Given the description of an element on the screen output the (x, y) to click on. 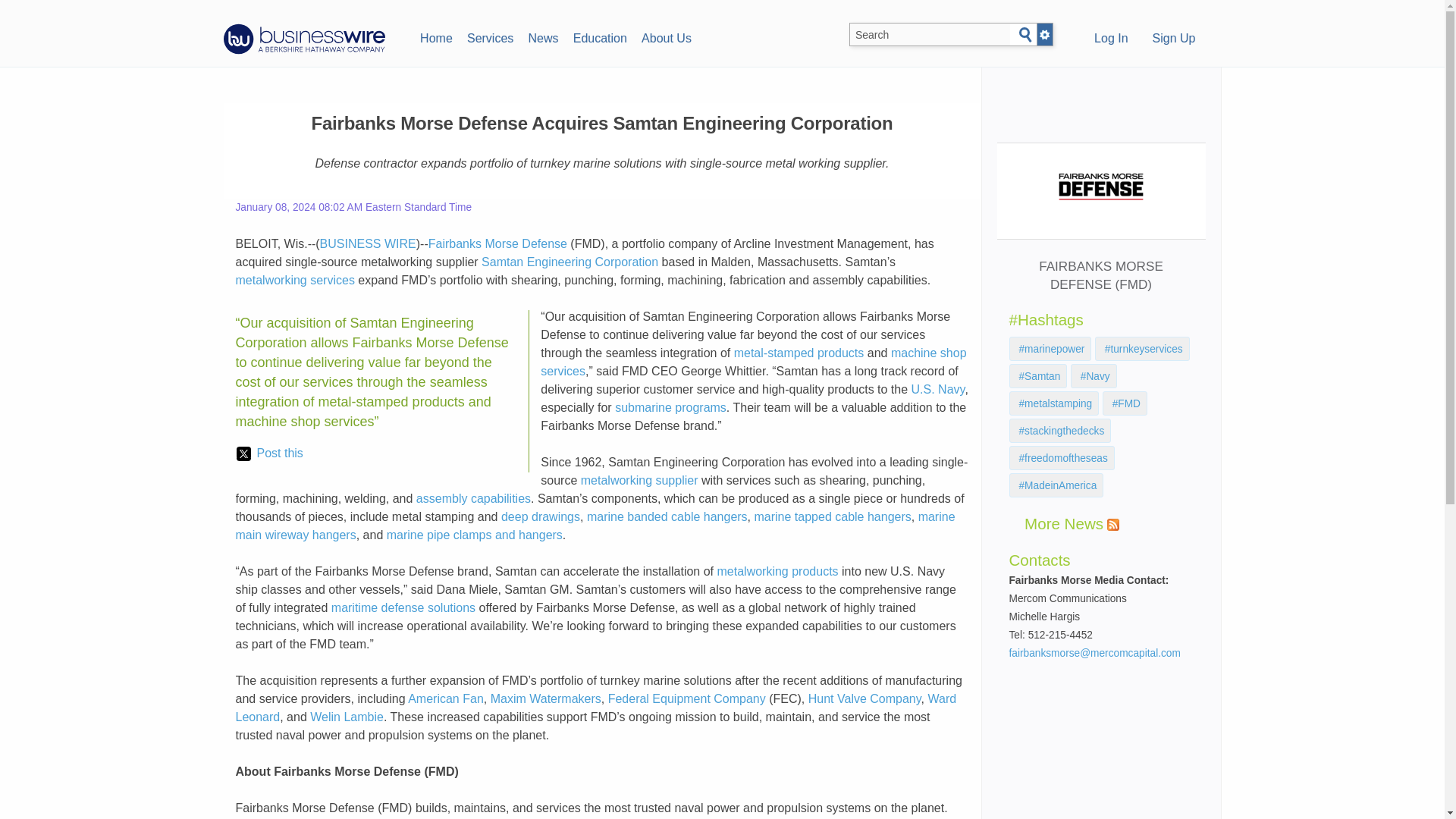
marine banded cable hangers (667, 516)
machine shop services (753, 361)
marine main wireway hangers (594, 525)
BUSINESS WIRE (368, 243)
metal-stamped products (798, 352)
U.S. Navy (938, 389)
Maxim Watermakers (545, 698)
deep drawings (539, 516)
American Fan (445, 698)
Samtan Engineering Corporation (569, 261)
maritime defense solutions (403, 607)
marine pipe clamps and hangers (474, 534)
RSS feed for Fairbanks Morse (1112, 524)
Search (1025, 34)
Welin Lambie (347, 716)
